Given the description of an element on the screen output the (x, y) to click on. 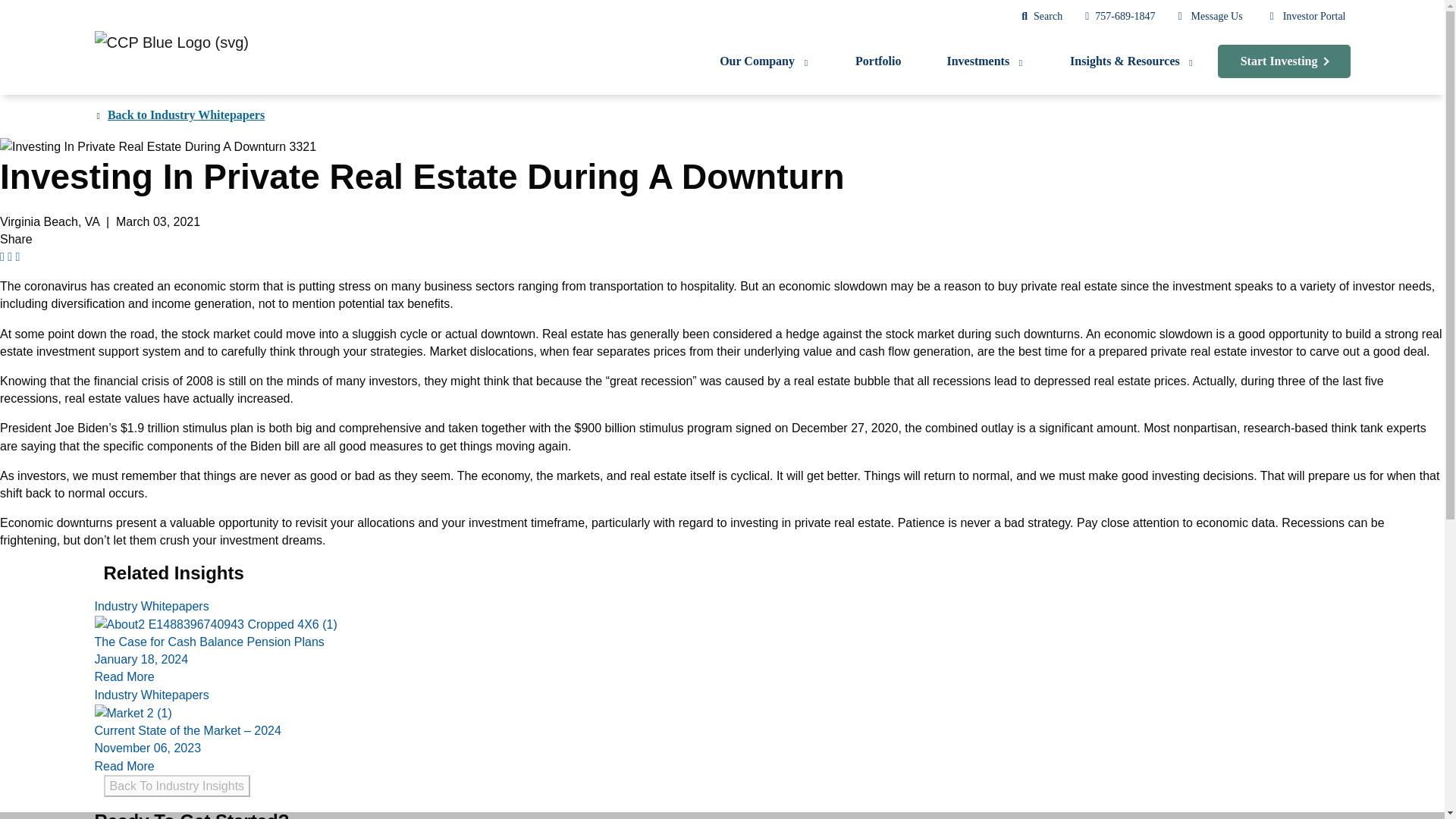
Message Us (1217, 16)
Start Investing (1284, 61)
Investments (985, 64)
Our Company (764, 64)
Search (1047, 16)
Portfolio (878, 64)
Investor Portal (1313, 16)
757-689-1847 (1124, 16)
